Given the description of an element on the screen output the (x, y) to click on. 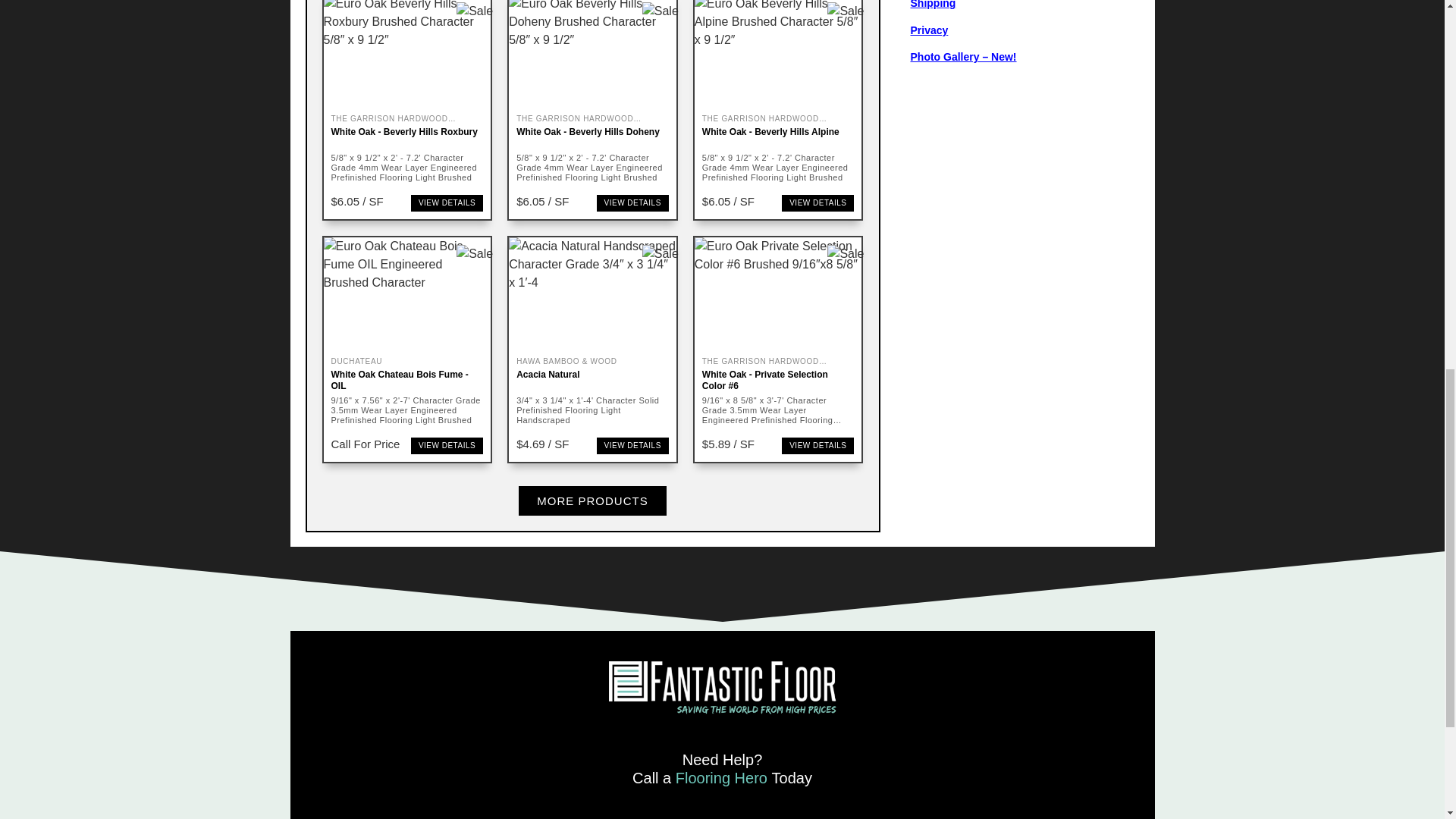
Acacia Natural Character Solid Prefinished Flooring (592, 294)
